Given the description of an element on the screen output the (x, y) to click on. 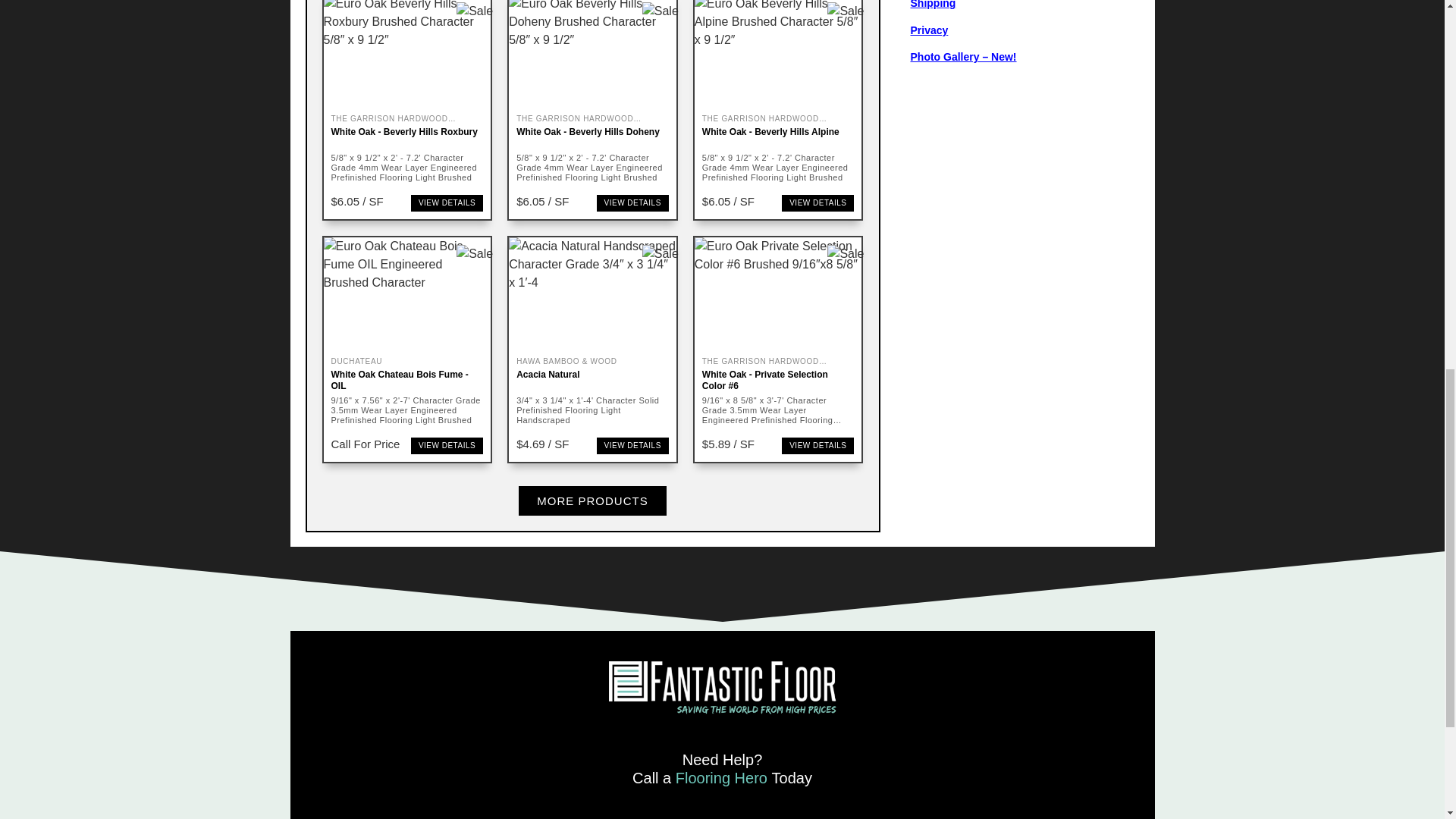
Acacia Natural Character Solid Prefinished Flooring (592, 294)
